Given the description of an element on the screen output the (x, y) to click on. 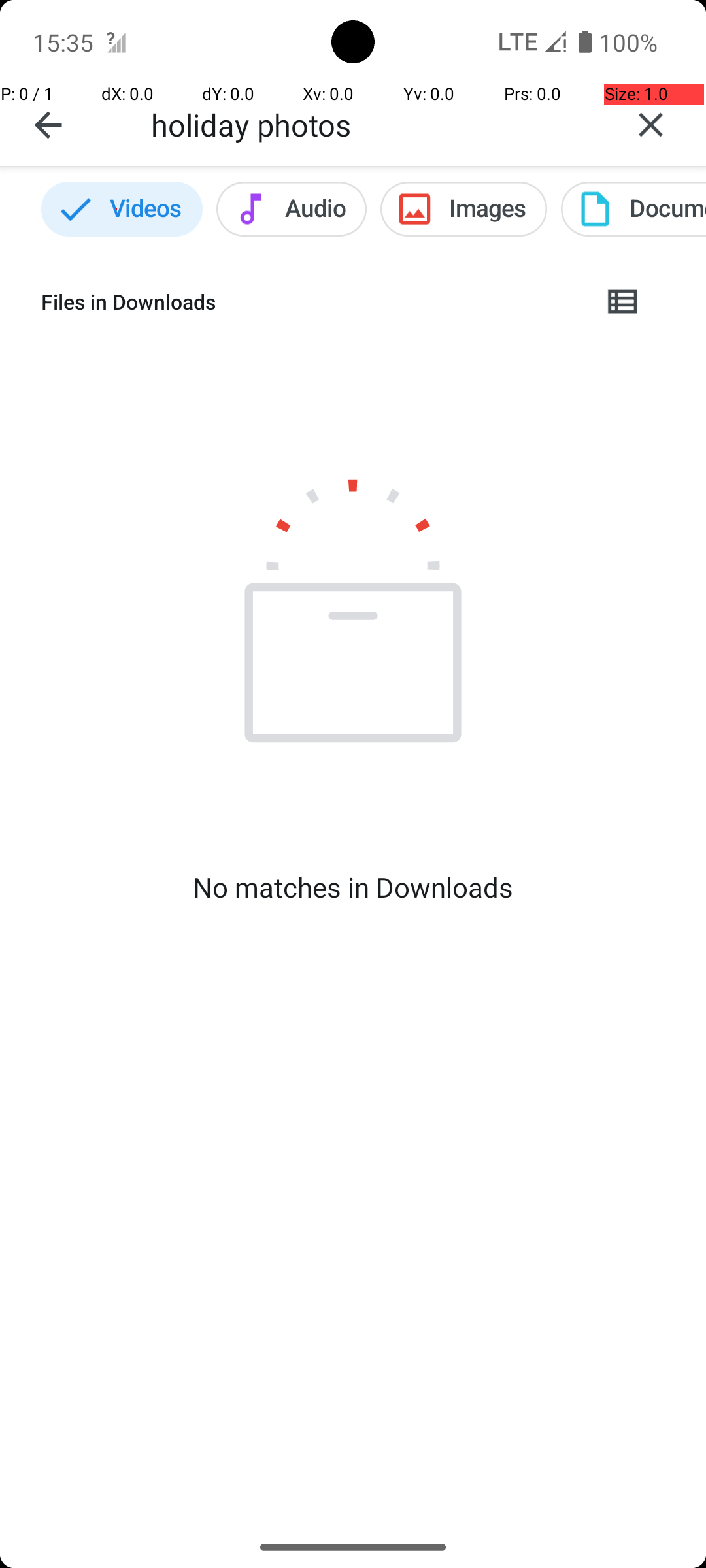
holiday photos Element type: android.widget.AutoCompleteTextView (373, 124)
